Given the description of an element on the screen output the (x, y) to click on. 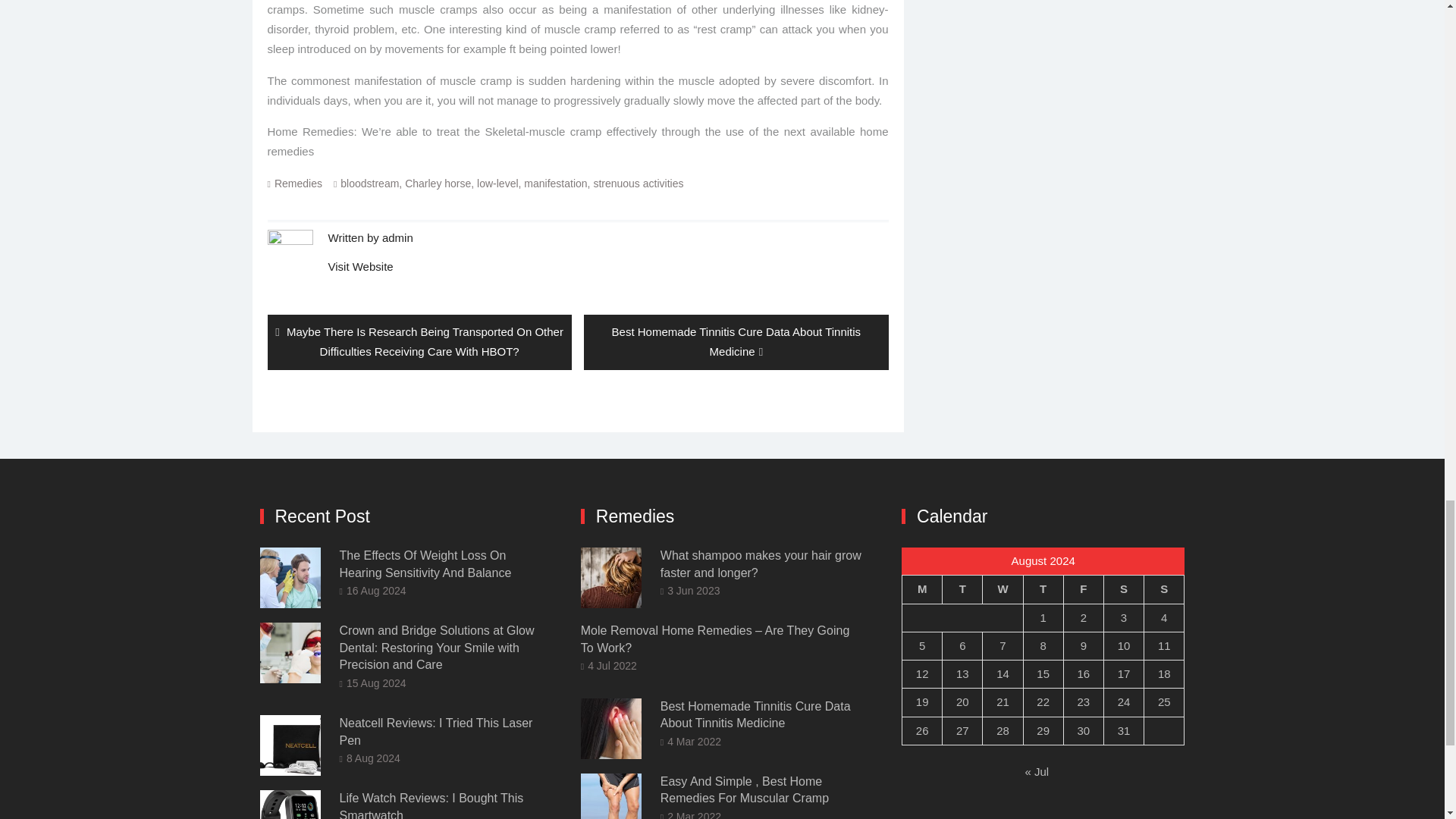
Wednesday (1002, 589)
Saturday (1122, 589)
Thursday (1042, 589)
Posts by admin (397, 237)
Friday (1082, 589)
Sunday (1164, 589)
Tuesday (962, 589)
Charley horse (437, 183)
manifestation (555, 183)
Remedies (298, 183)
